Given the description of an element on the screen output the (x, y) to click on. 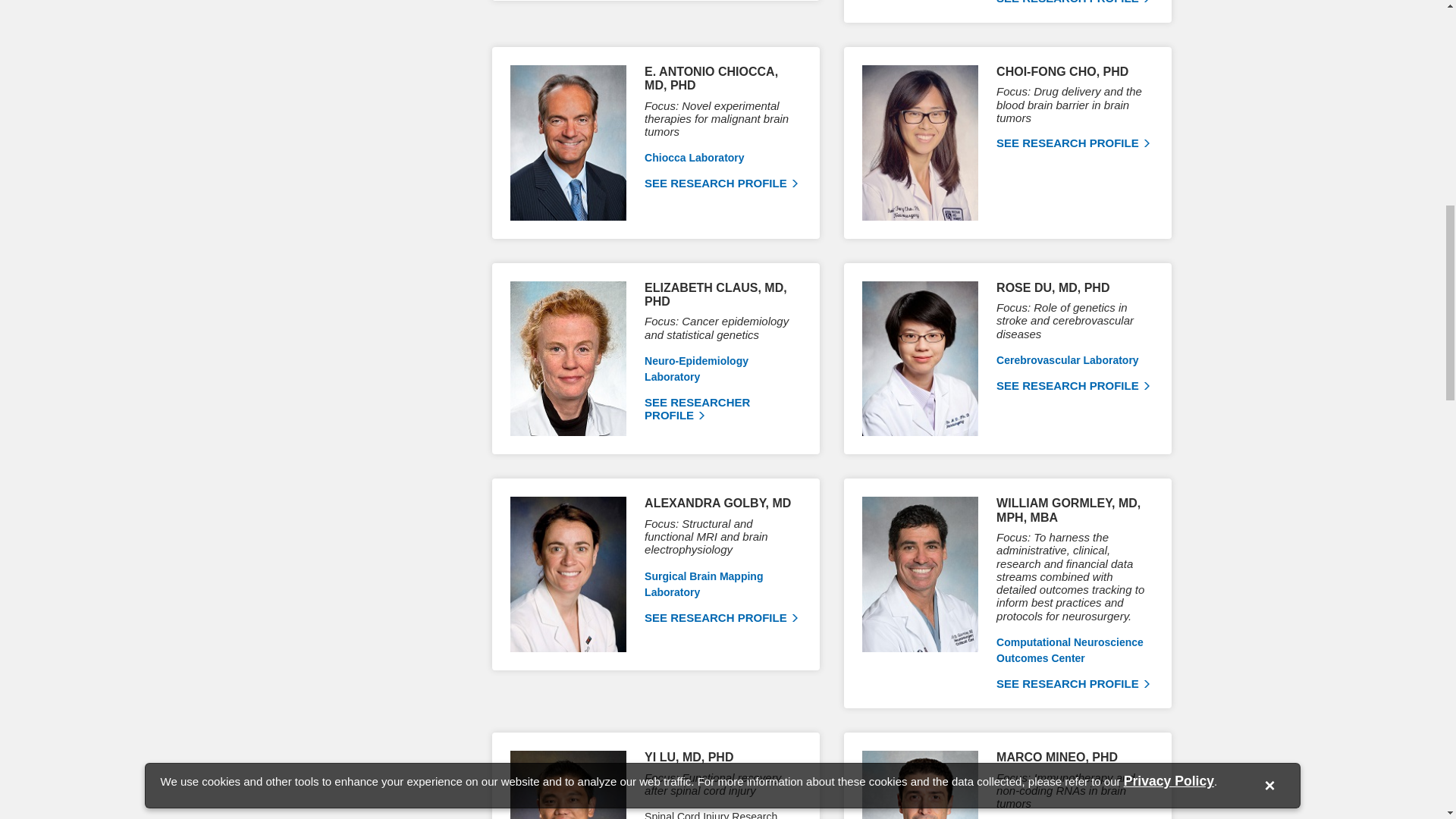
Chiocca Laboratory (694, 157)
Surgical Brain Mapping Laboratory (703, 584)
Cerebrovascular Laboratory (1066, 359)
Neuro-Epidemiology Laboratory (696, 368)
Physician Bios (1072, 385)
